Given the description of an element on the screen output the (x, y) to click on. 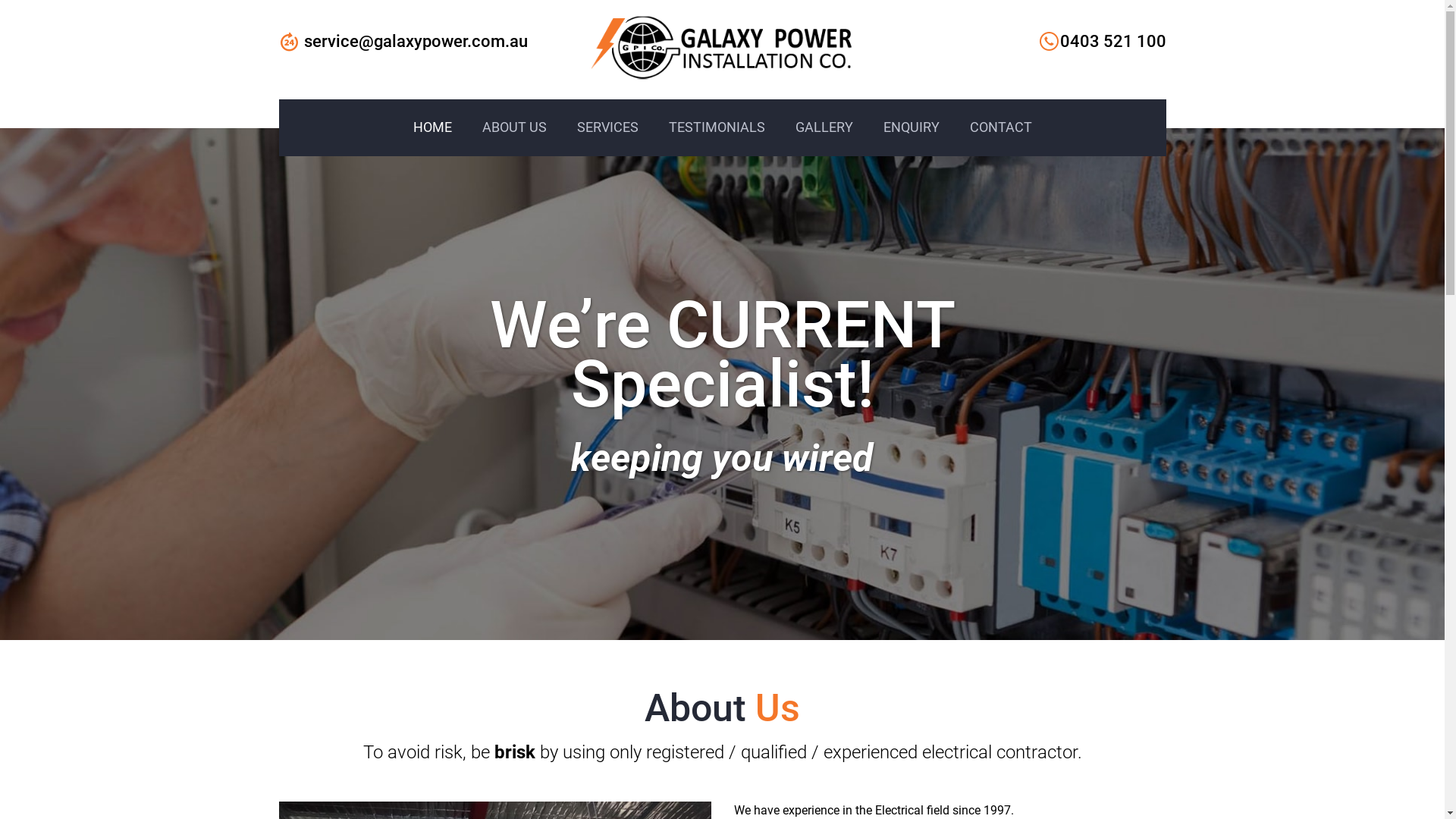
TESTIMONIALS Element type: text (716, 127)
HOME Element type: text (431, 127)
service@galaxypower.com.au Element type: text (415, 41)
GALLERY Element type: text (823, 127)
ENQUIRY Element type: text (910, 127)
CONTACT Element type: text (999, 127)
SERVICES Element type: text (606, 127)
ABOUT US Element type: text (514, 127)
